Given the description of an element on the screen output the (x, y) to click on. 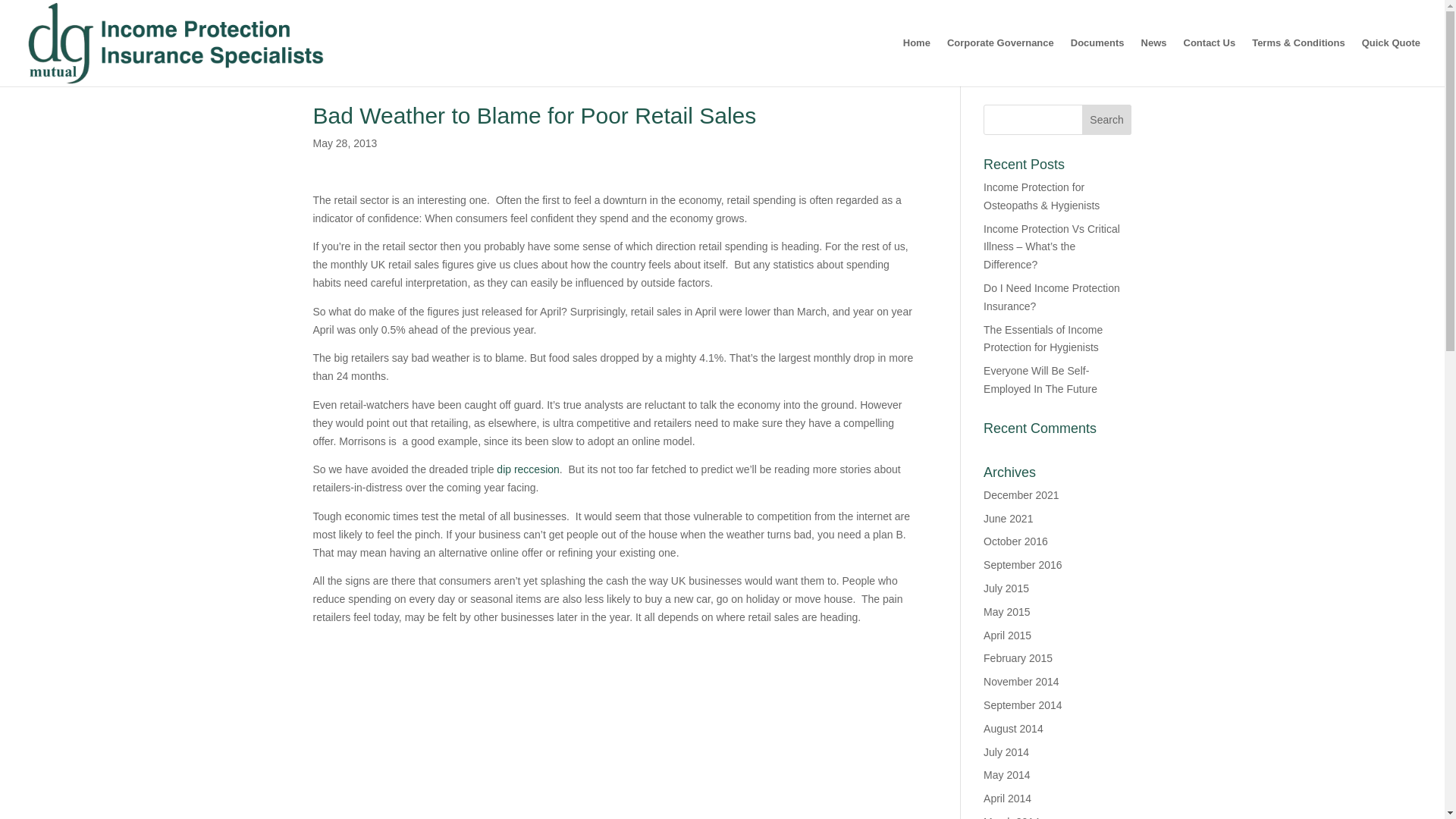
May 2014 (1006, 775)
Search (1106, 119)
Everyone Will Be Self-Employed In The Future (1040, 379)
April 2015 (1007, 635)
Search (1106, 119)
Documents (1097, 61)
July 2014 (1006, 752)
October 2016 (1016, 541)
February 2015 (1018, 657)
